Given the description of an element on the screen output the (x, y) to click on. 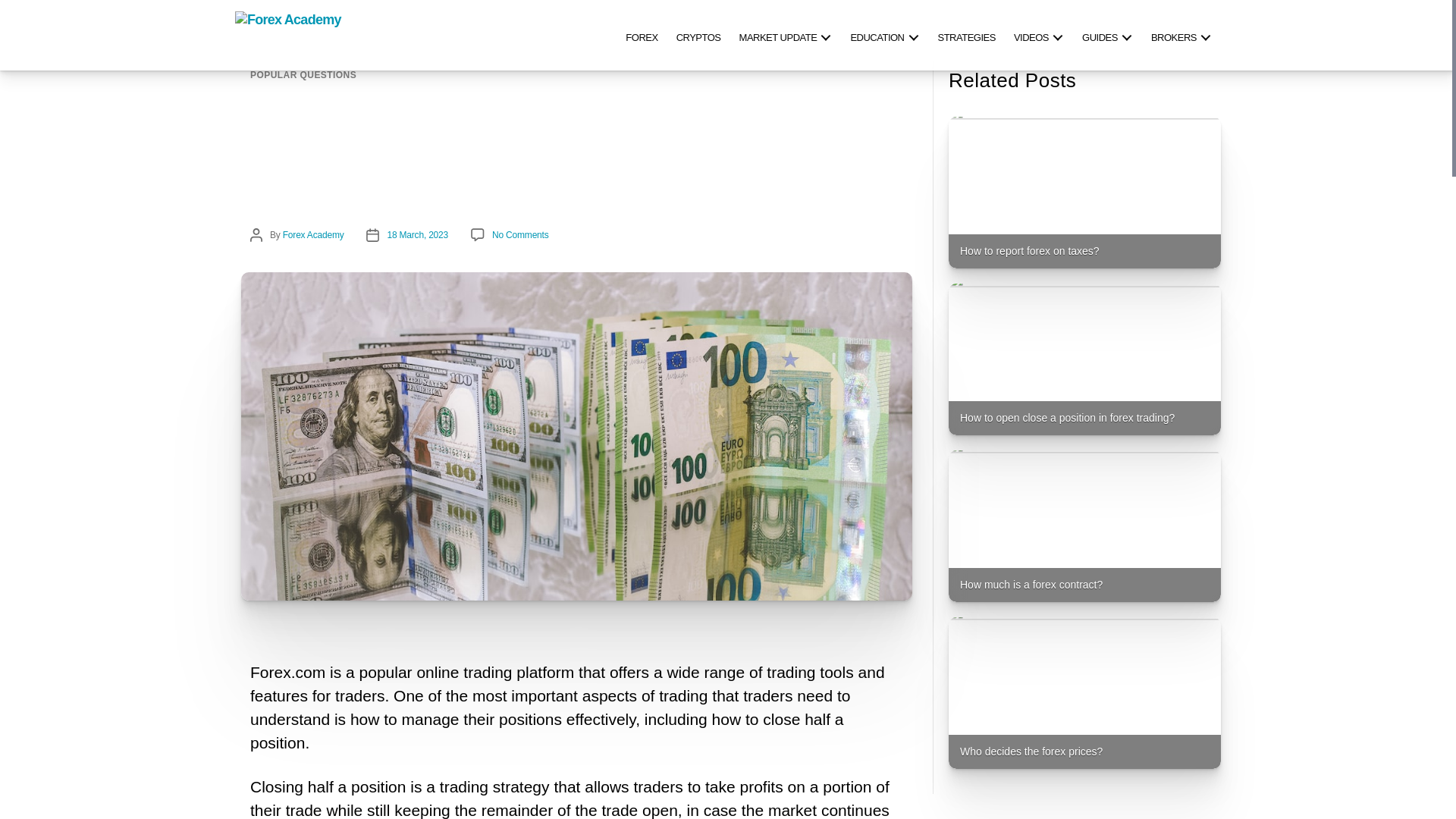
VIDEOS (1038, 35)
MARKET UPDATE (785, 35)
How much is a forex contract? (1085, 525)
FOREX (640, 35)
How to report forex on taxes? (1085, 192)
BROKERS (1181, 35)
EDUCATION (884, 35)
STRATEGIES (966, 35)
GUIDES (1107, 35)
CRYPTOS (698, 35)
How to open close a position in forex trading? (1085, 358)
Who decides the forex prices? (1085, 693)
